Given the description of an element on the screen output the (x, y) to click on. 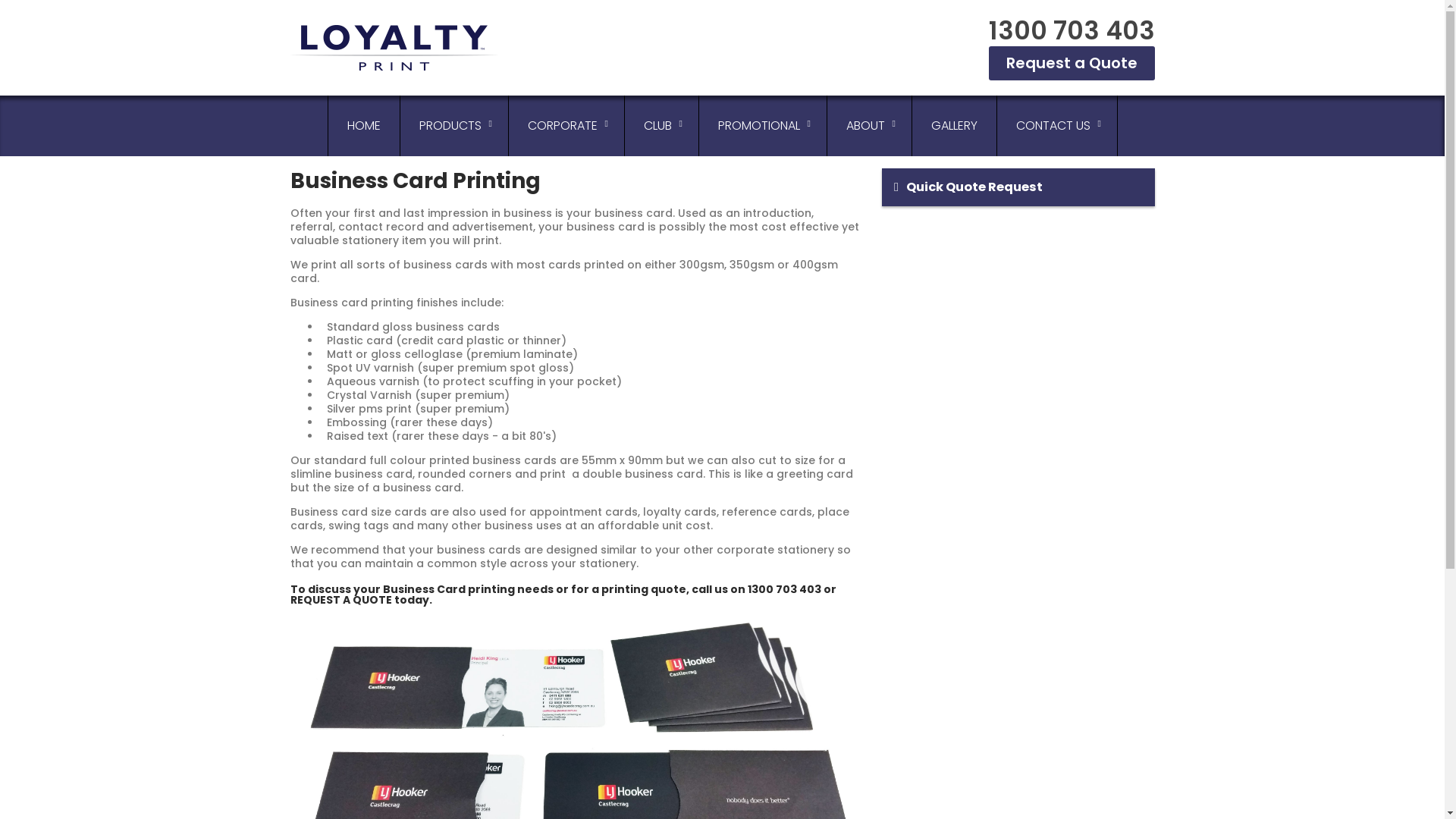
ABOUT Element type: text (864, 125)
CORPORATE Element type: text (561, 125)
Request a Quote Element type: text (1071, 63)
1300 703 403 Element type: text (784, 588)
GALLERY Element type: text (953, 125)
HOME Element type: text (362, 125)
PRODUCTS Element type: text (450, 125)
CONTACT US Element type: text (1052, 125)
REQUEST A QUOTE Element type: text (340, 599)
PROMOTIONAL Element type: text (759, 125)
1300 703 403 Element type: text (1071, 30)
CLUB Element type: text (657, 125)
